Given the description of an element on the screen output the (x, y) to click on. 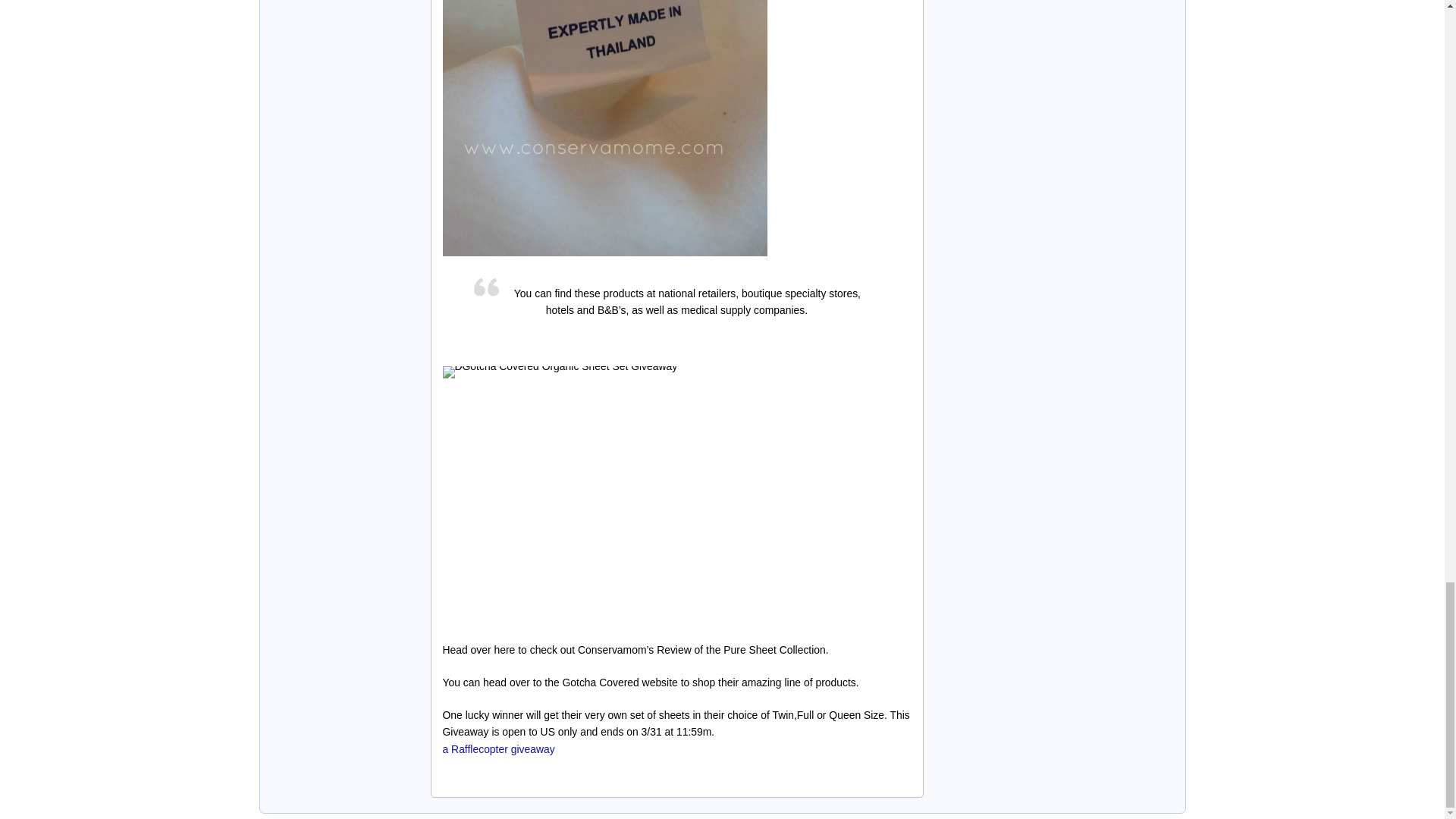
Gotcha Covered Organic Sheet Set Giveaway (604, 128)
